Given the description of an element on the screen output the (x, y) to click on. 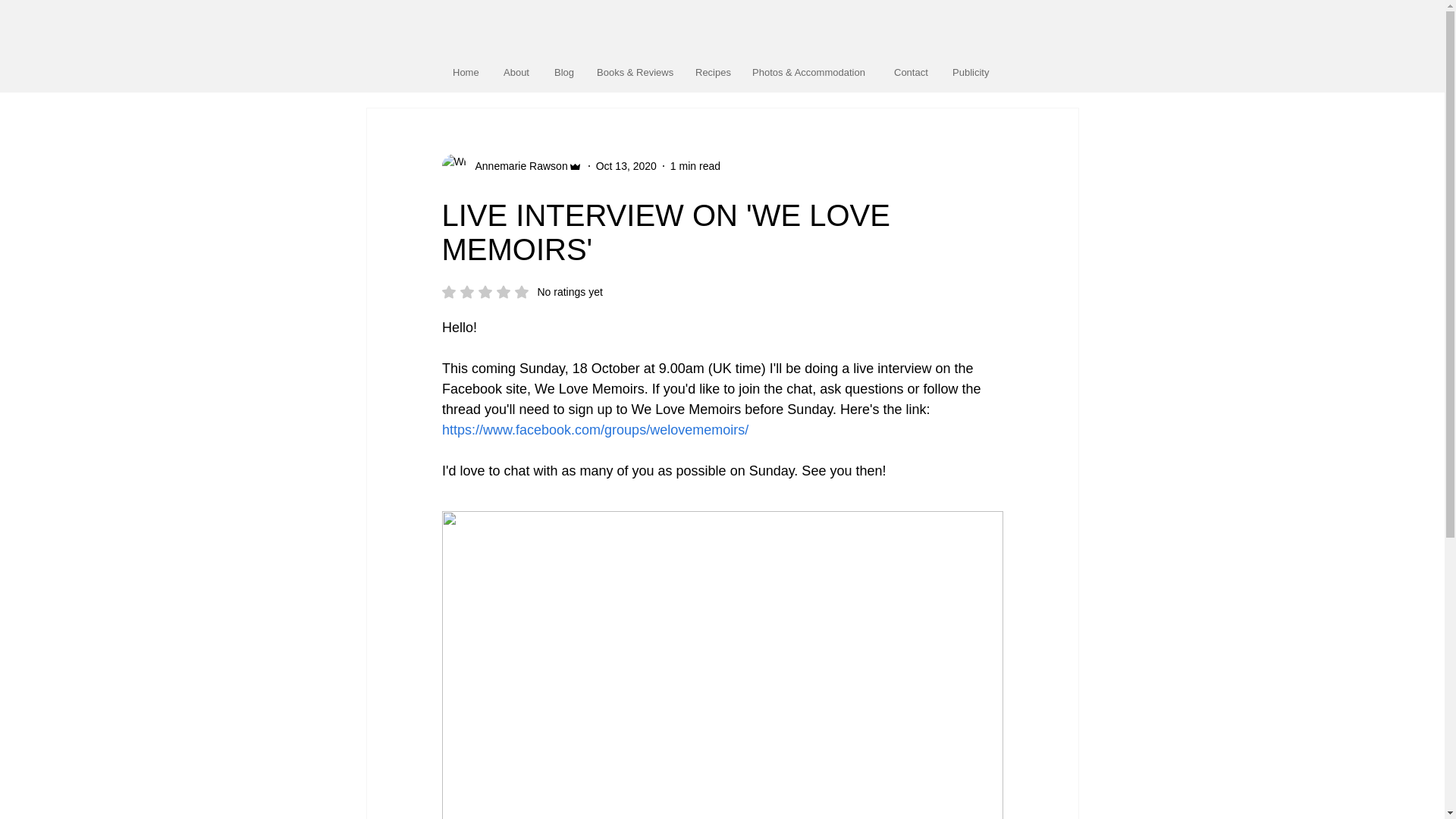
Contact (911, 72)
1 min read (521, 291)
Home (694, 164)
Blog (466, 72)
Publicity (564, 72)
Annemarie Rawson (971, 72)
Oct 13, 2020 (516, 165)
About (625, 164)
